Given the description of an element on the screen output the (x, y) to click on. 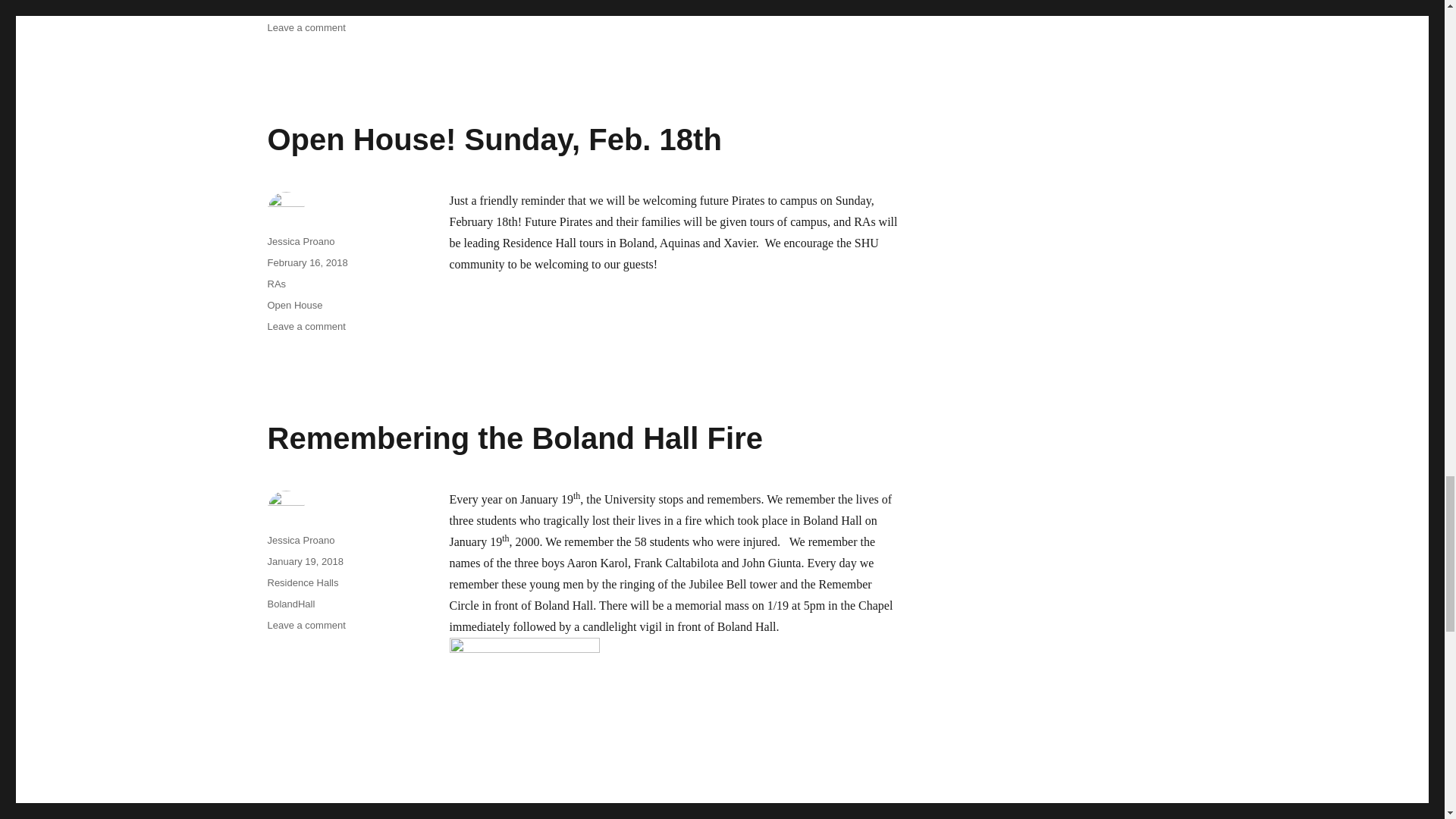
Uncategorized (298, 6)
